Given the description of an element on the screen output the (x, y) to click on. 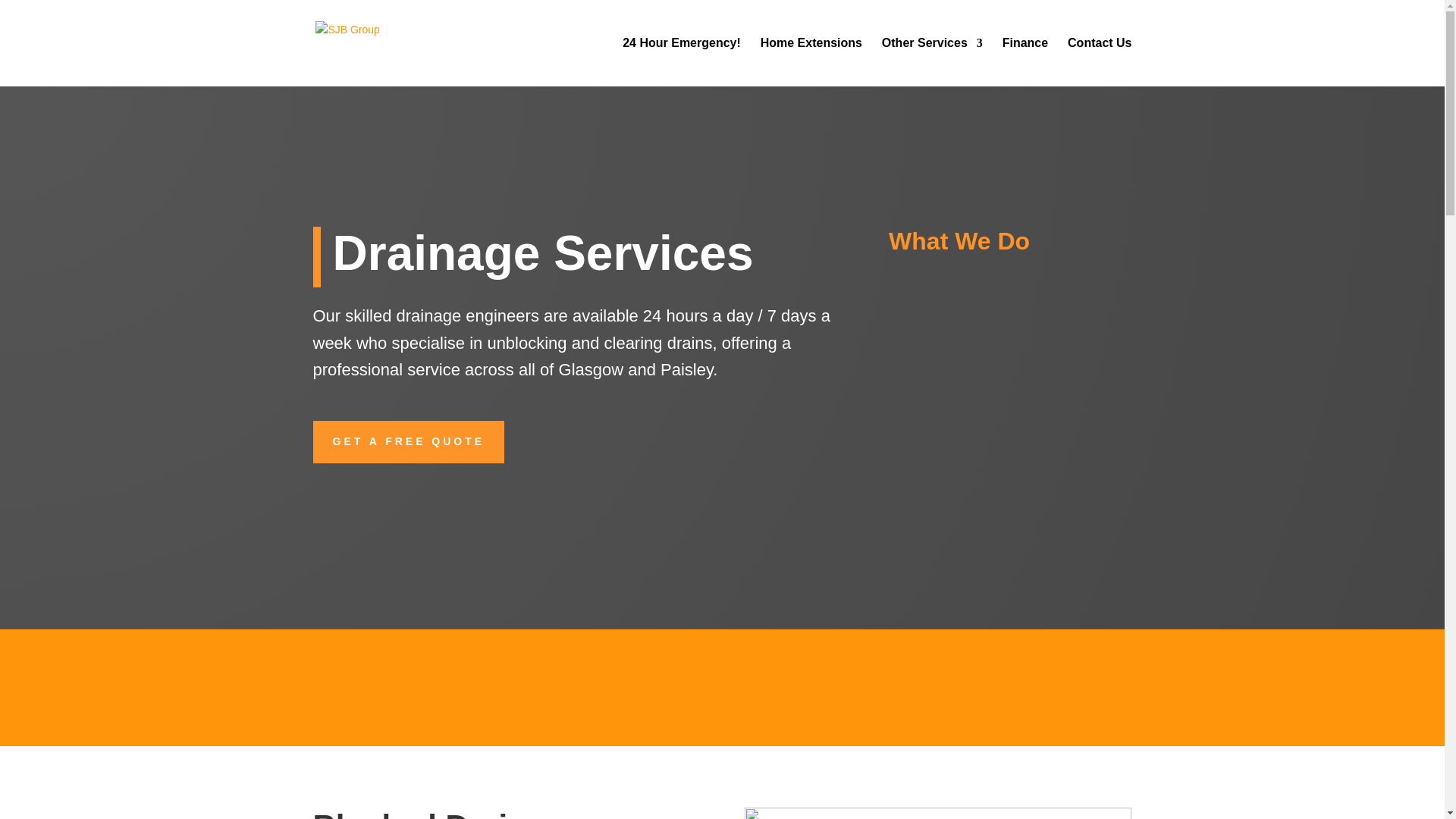
GET A FREE QUOTE (408, 441)
Finance (1025, 61)
24 Hour Emergency! (682, 61)
Other Services (932, 61)
blocked drains (937, 816)
Contact Us (1099, 61)
Home Extensions (810, 61)
